Given the description of an element on the screen output the (x, y) to click on. 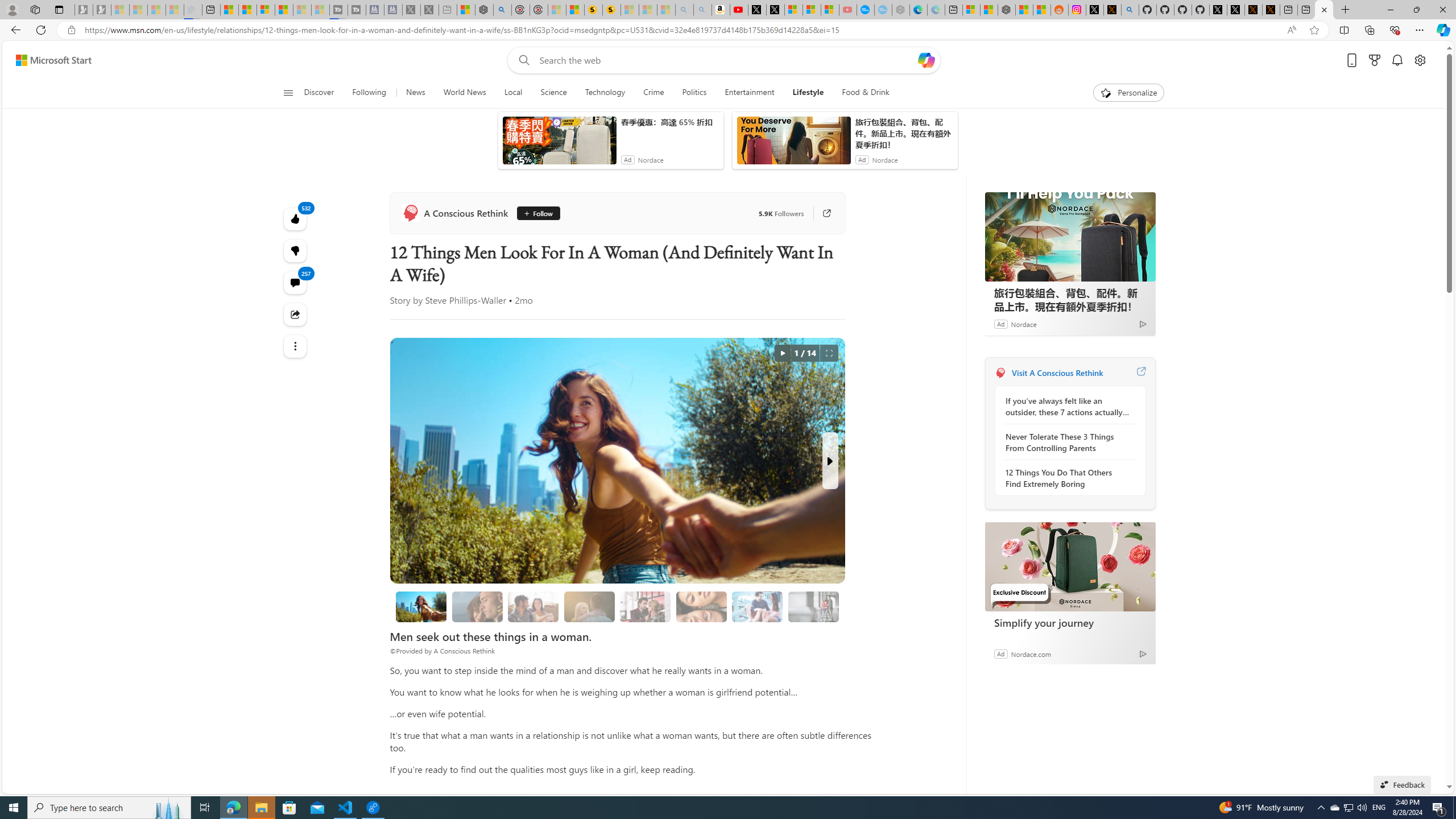
github - Search (945, 49)
Nordace - Summer Adventures 2024 (478, 9)
AutomationID: tab-27 (497, 328)
Open Copilot (925, 78)
Favorites bar (728, 49)
Add a site (916, 126)
AutomationID: tab-26 (492, 328)
See more hotels (1123, 509)
You're following FOX News (780, 326)
AutomationID: tab-28 (501, 328)
Map (1085, 233)
